Given the description of an element on the screen output the (x, y) to click on. 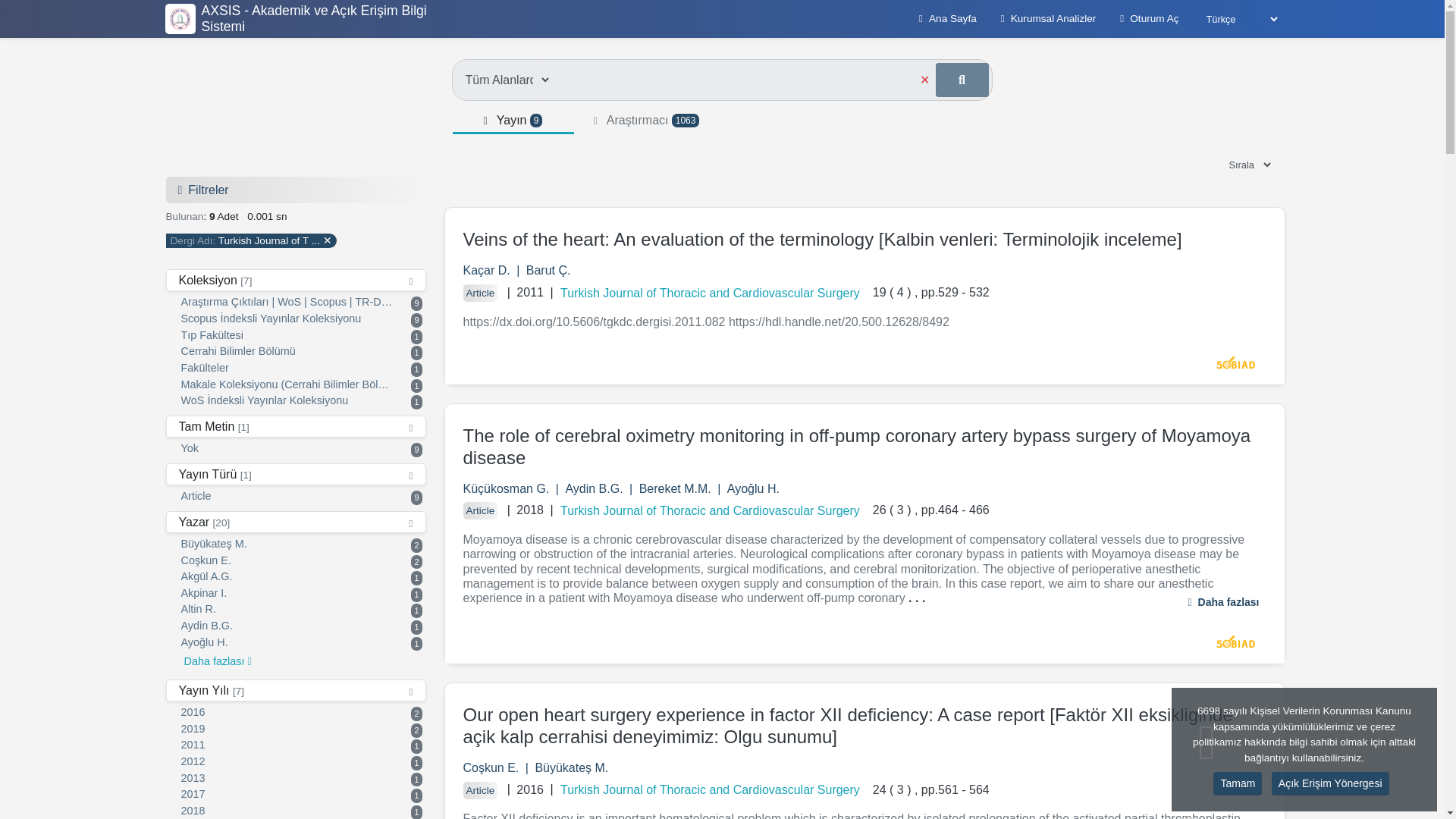
Ana Sayfa (301, 657)
Kurumsal Analizler (301, 686)
Ana Sayfa (301, 745)
